Given the description of an element on the screen output the (x, y) to click on. 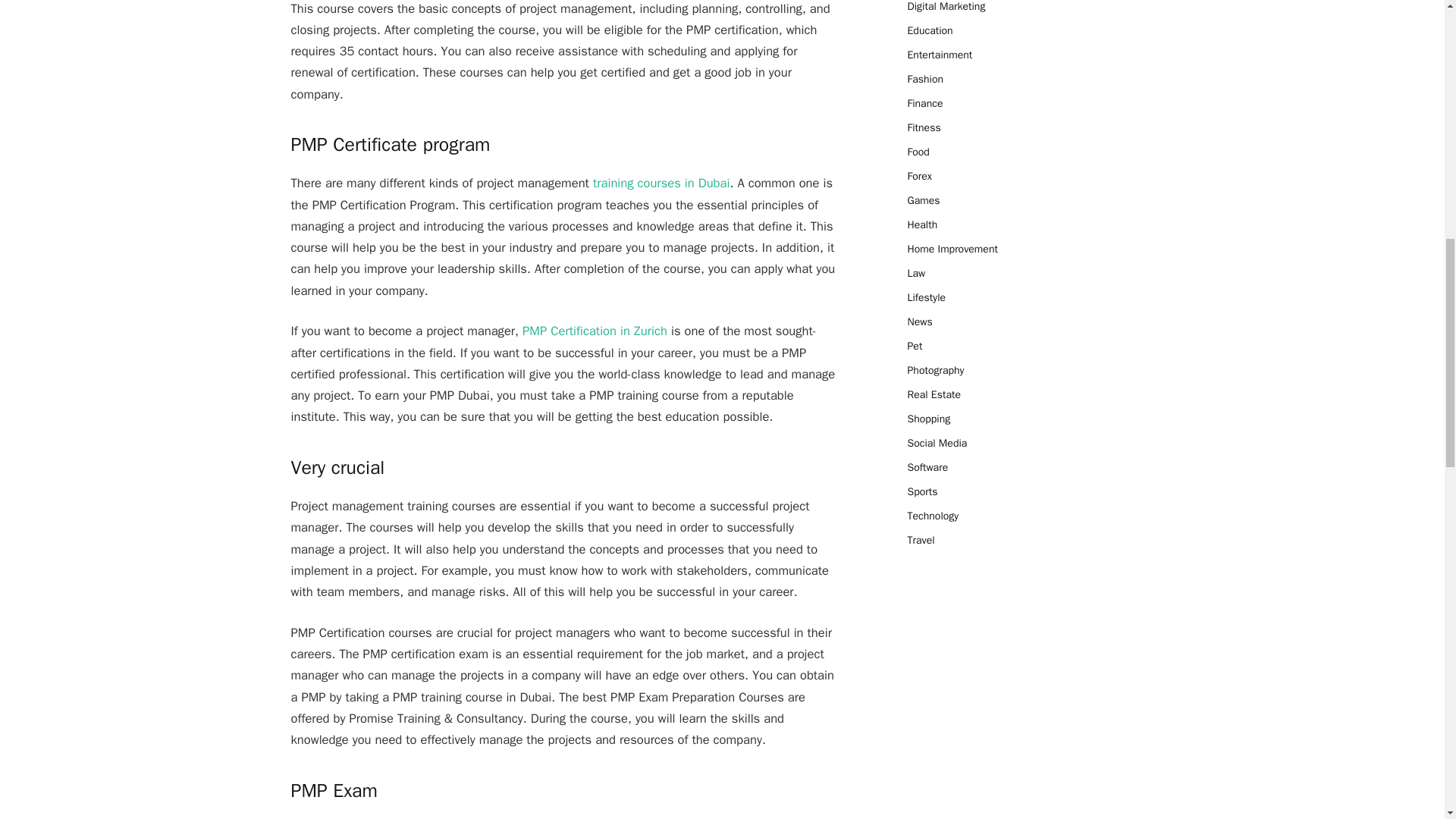
PMP Certification in Zurich (594, 330)
training courses in Dubai (661, 182)
